Given the description of an element on the screen output the (x, y) to click on. 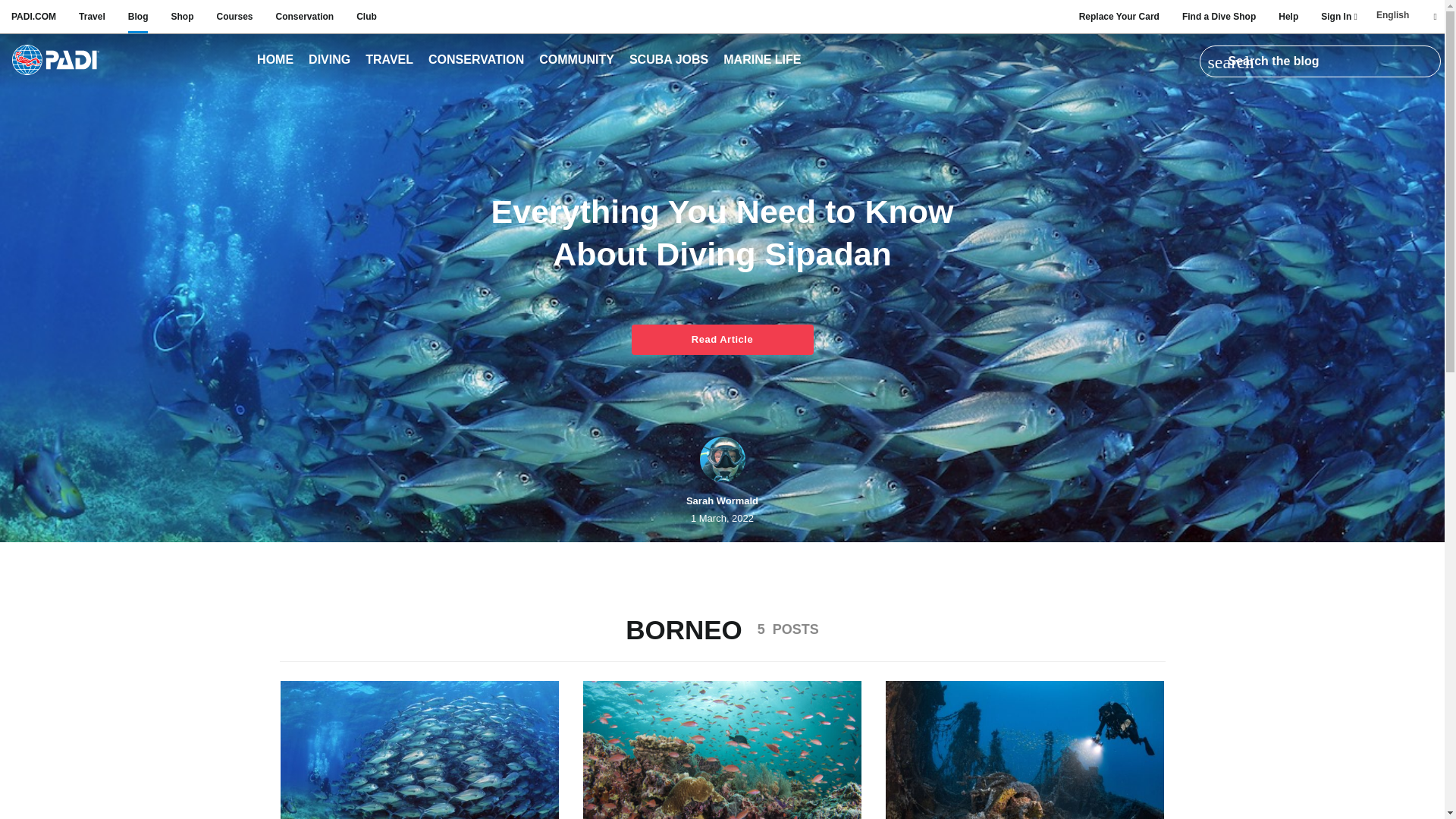
Conservation (305, 16)
MARINE LIFE (762, 60)
DIVING (329, 60)
Sign In (1338, 16)
Scuba Jobs (668, 60)
Find a Dive Shop (1218, 16)
Community (576, 60)
CONSERVATION (475, 60)
Travel (389, 60)
SCUBA JOBS (668, 60)
